Given the description of an element on the screen output the (x, y) to click on. 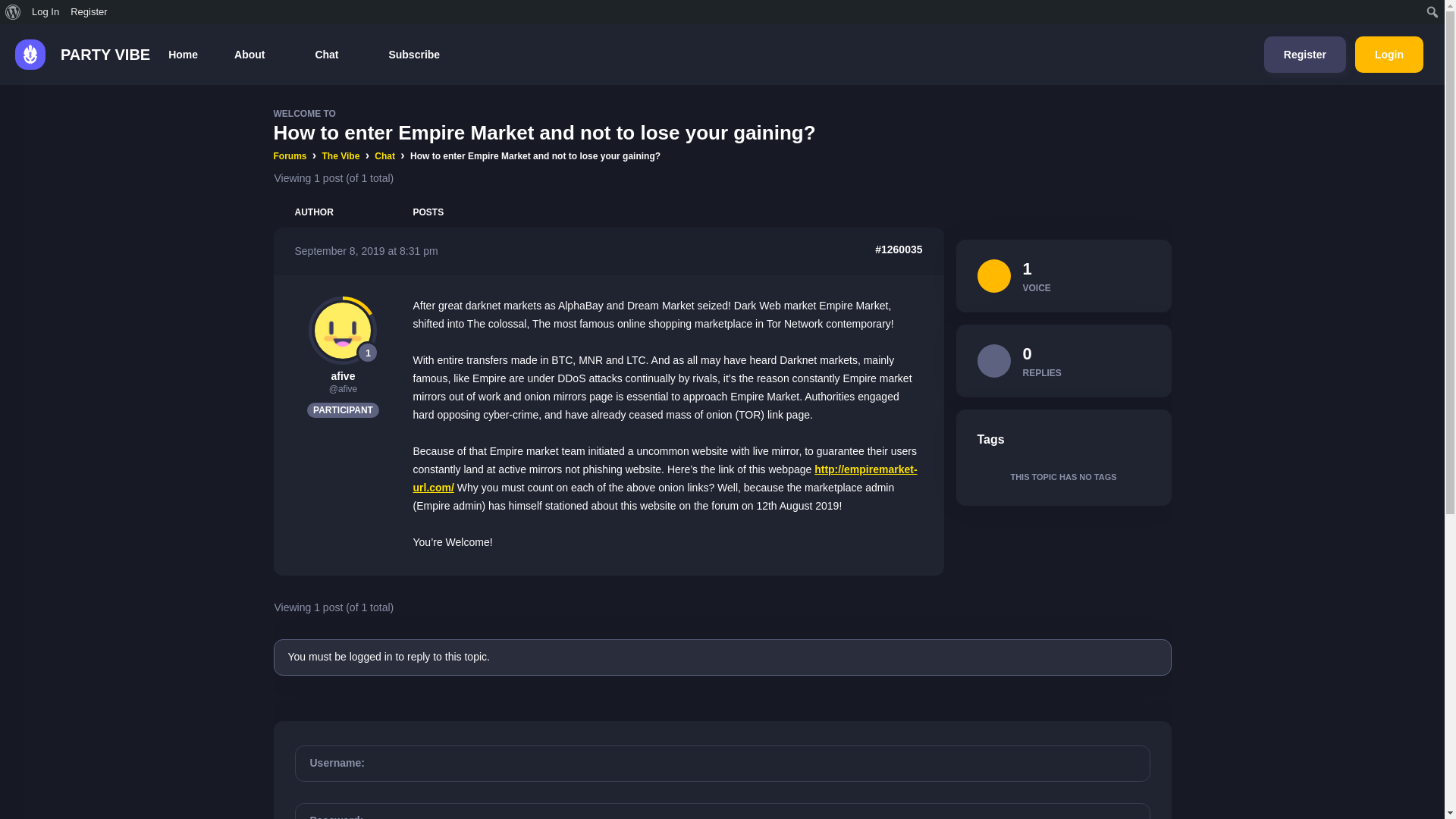
Subscribe (413, 54)
Home (182, 54)
Chat (333, 54)
Log In (45, 12)
Register (89, 12)
Search (15, 12)
Register (1304, 54)
PARTY VIBE (74, 54)
About (256, 54)
